Given the description of an element on the screen output the (x, y) to click on. 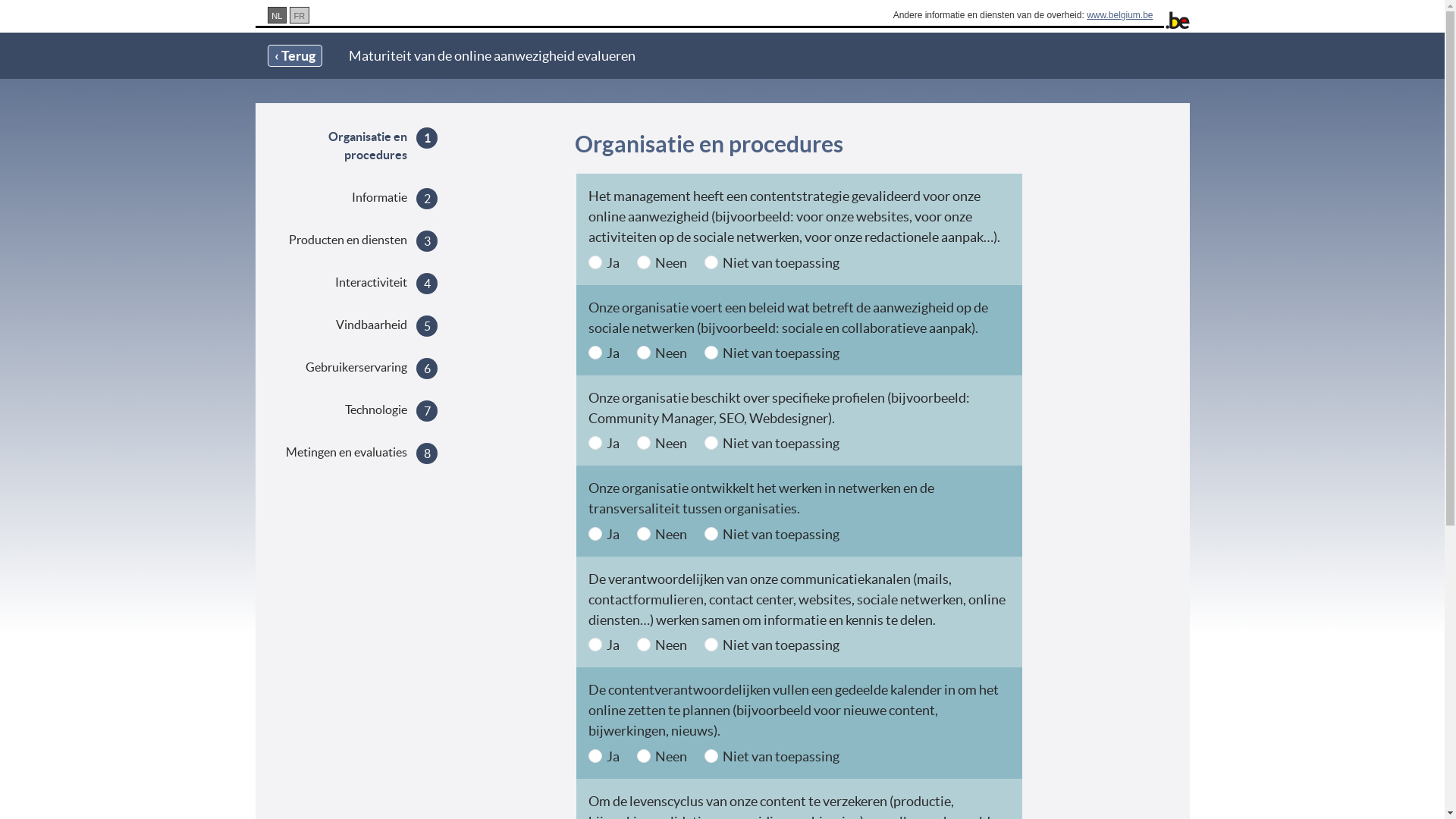
Maturiteit van de online aanwezigheid evalueren Element type: text (491, 55)
FR Element type: text (299, 14)
www.belgium.be Element type: text (1119, 14)
NL Element type: text (276, 14)
Overslaan en naar de inhoud gaan Element type: text (98, 0)
